Given the description of an element on the screen output the (x, y) to click on. 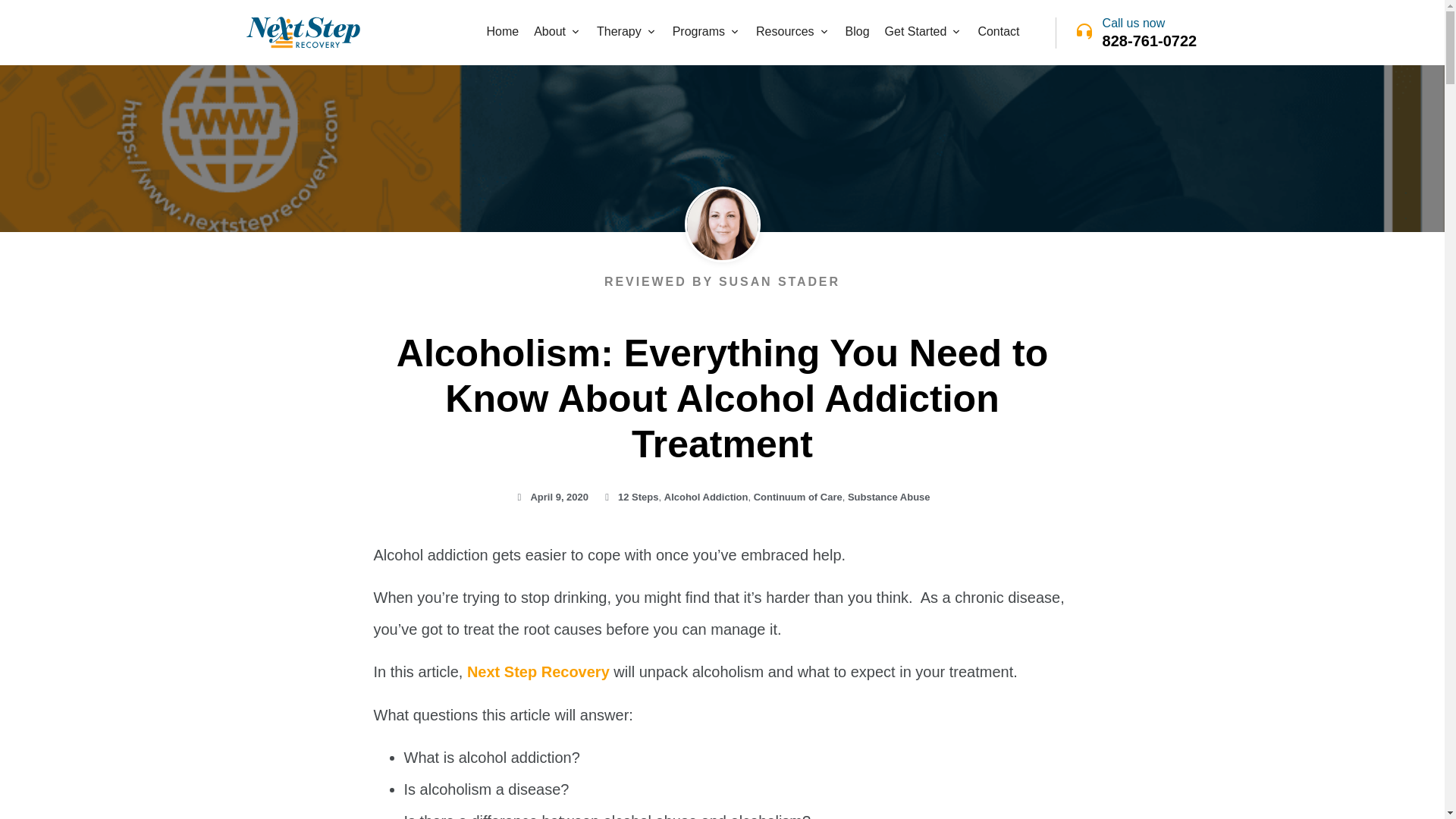
About (550, 31)
Programs (698, 31)
Resources (784, 31)
Therapy (619, 31)
Home (502, 31)
